Given the description of an element on the screen output the (x, y) to click on. 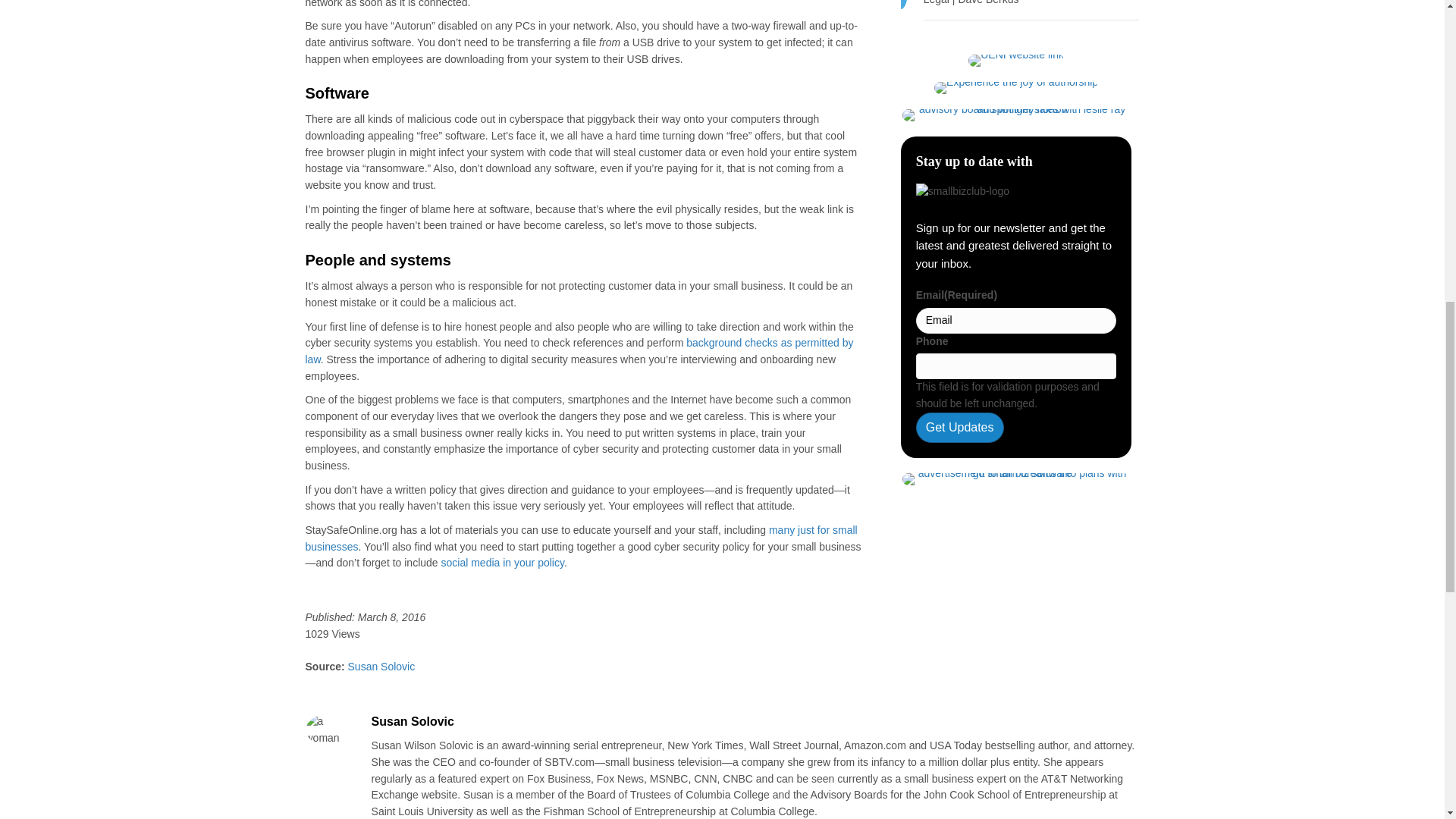
Susan Solovic (379, 666)
sbc-sidebar-img-ueni (1016, 60)
IG Post 2 (1015, 87)
many just for small businesses (580, 538)
Get Updates (959, 427)
social media in your policy (502, 562)
background checks as permitted by law (578, 350)
small-biz-club-aug-square (1015, 114)
